Given the description of an element on the screen output the (x, y) to click on. 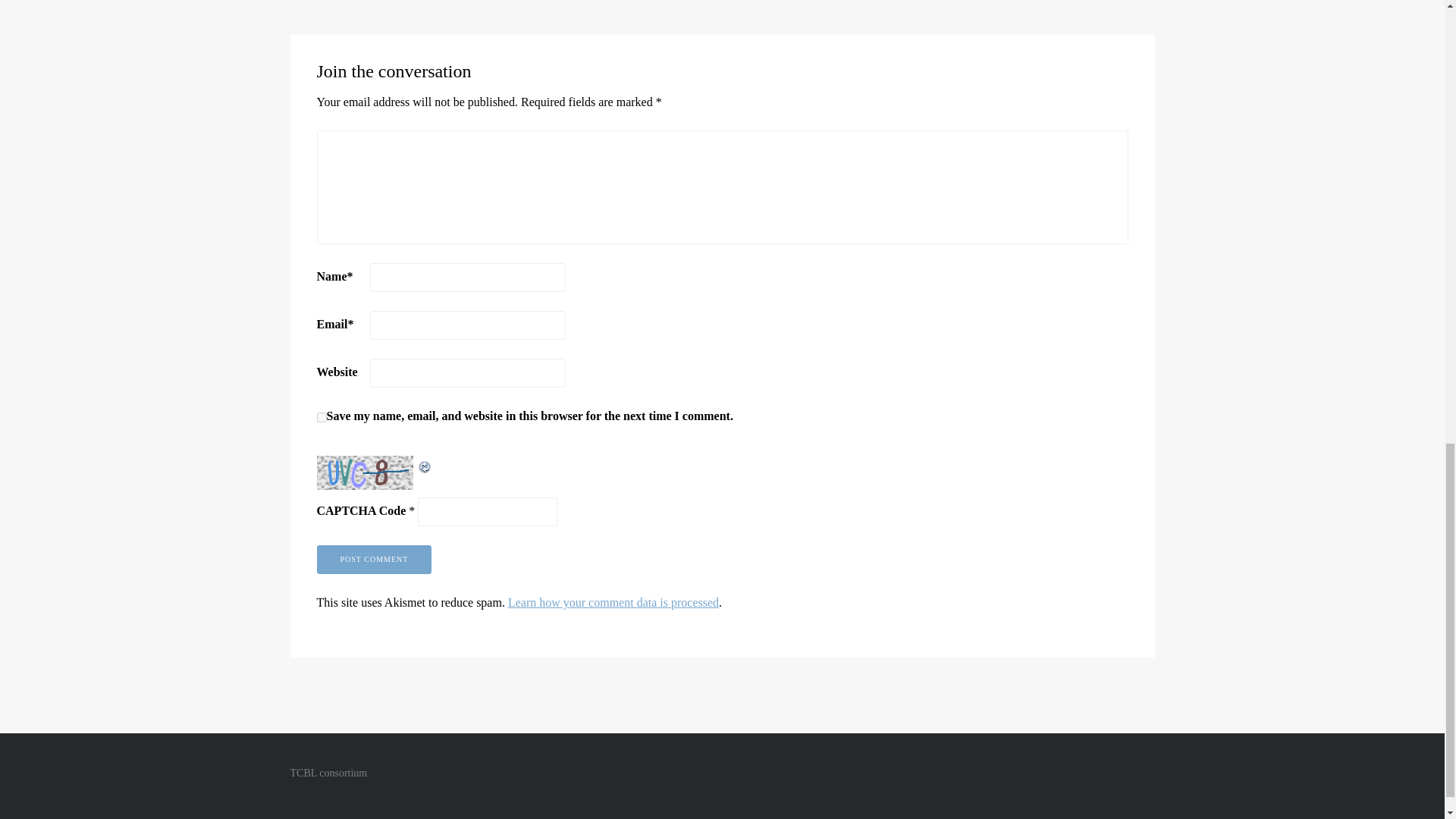
Post comment (374, 559)
CAPTCHA (366, 472)
yes (321, 417)
Refresh (424, 464)
